Given the description of an element on the screen output the (x, y) to click on. 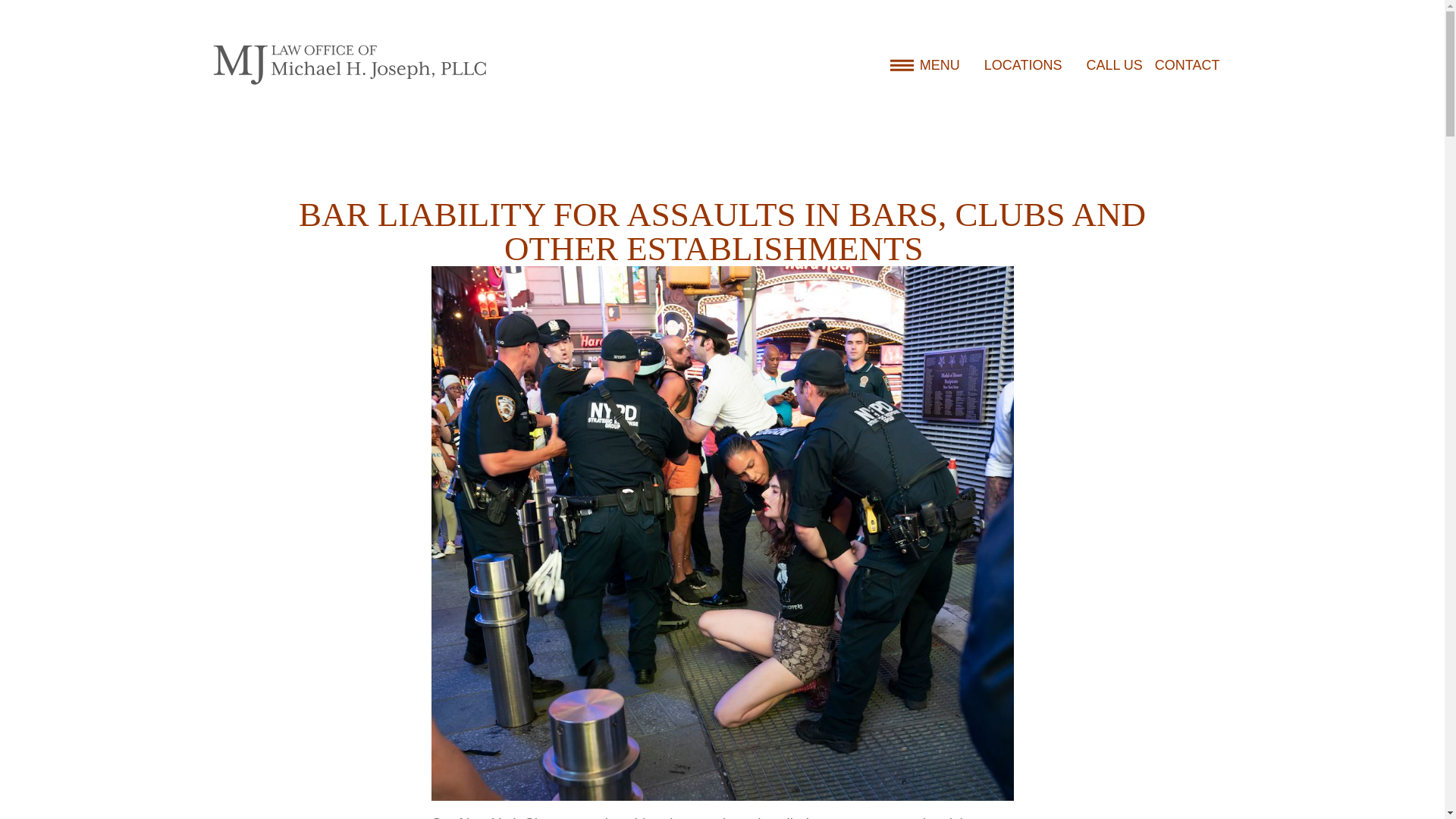
CONTACT (1187, 65)
CALL US (1113, 65)
LOCATIONS (1023, 65)
MENU (924, 65)
